Given the description of an element on the screen output the (x, y) to click on. 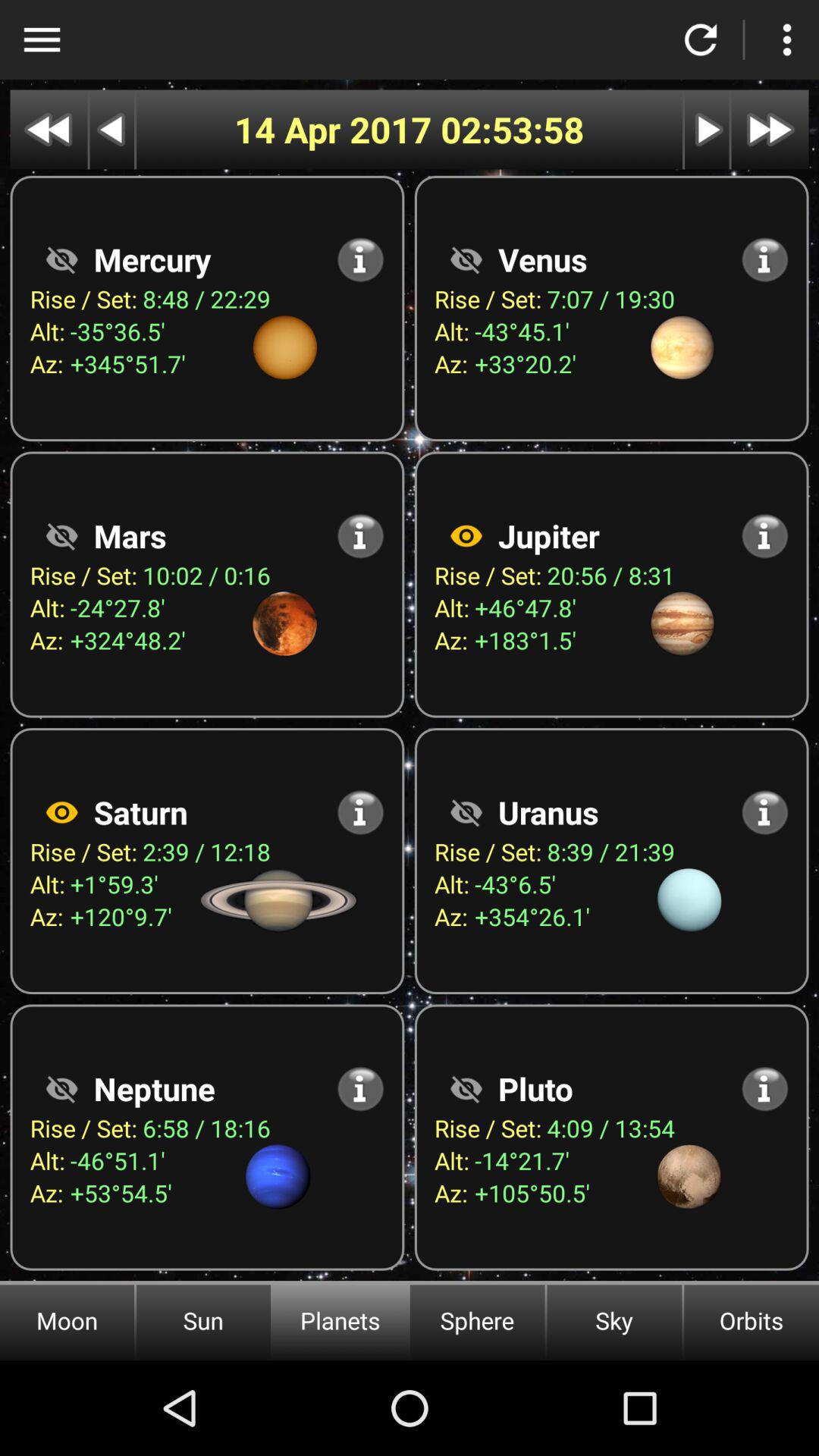
show information about planet (466, 1088)
